Given the description of an element on the screen output the (x, y) to click on. 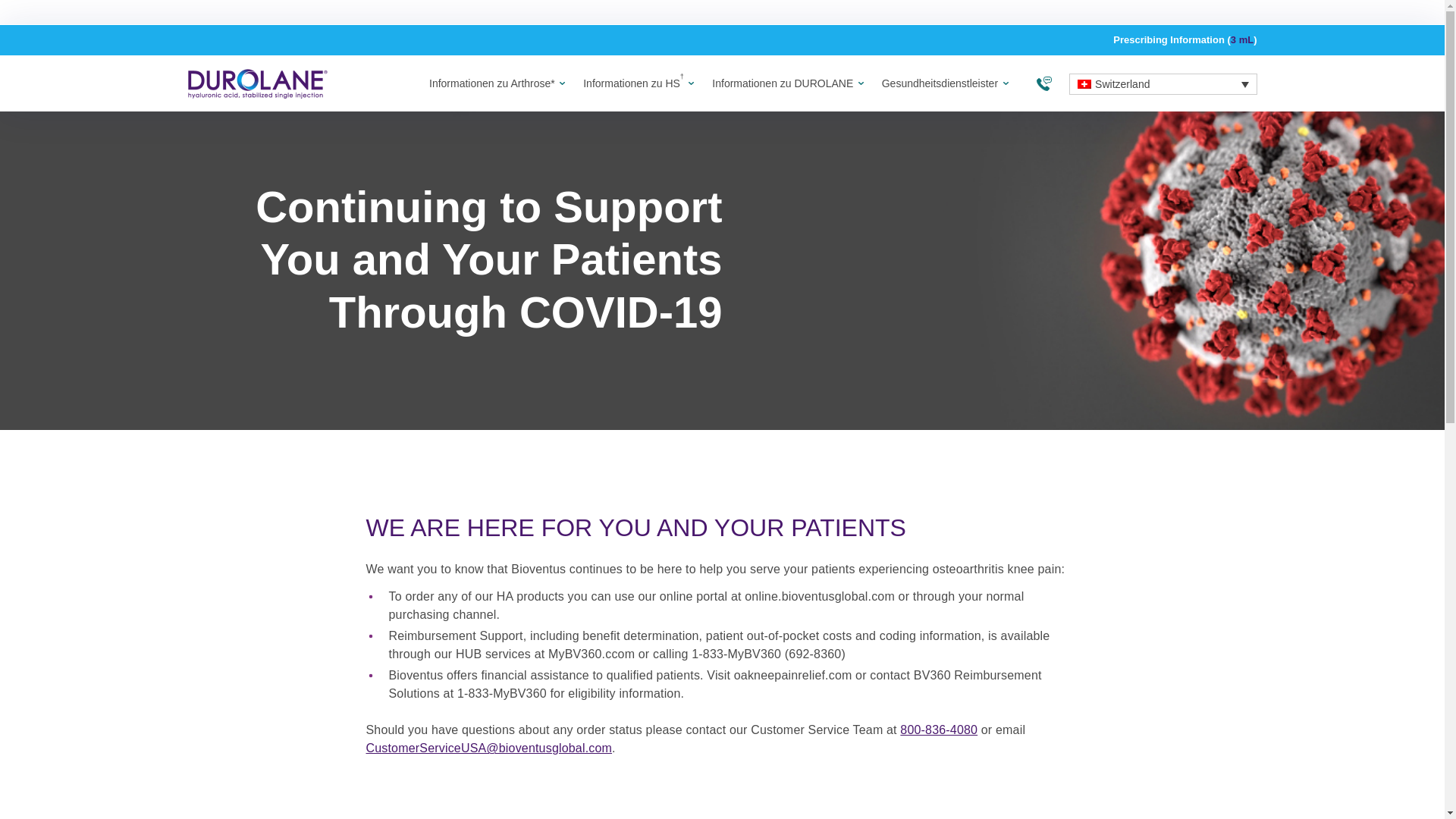
Gesundheitsdienstleister (939, 84)
Informationen zu DUROLANE (782, 84)
3 mL (1241, 39)
Switzerland (1161, 84)
